Given the description of an element on the screen output the (x, y) to click on. 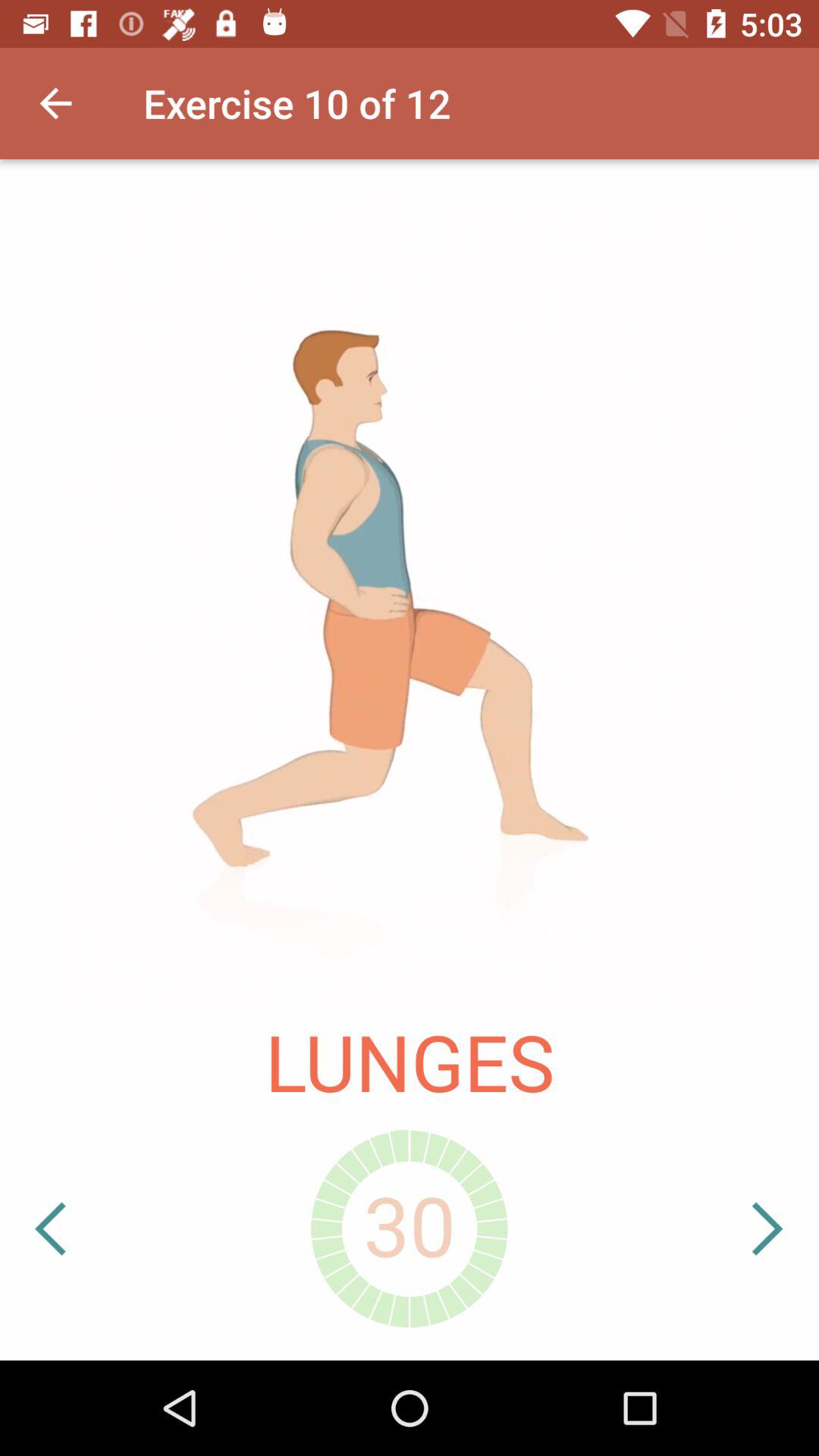
press icon at the top left corner (55, 103)
